Given the description of an element on the screen output the (x, y) to click on. 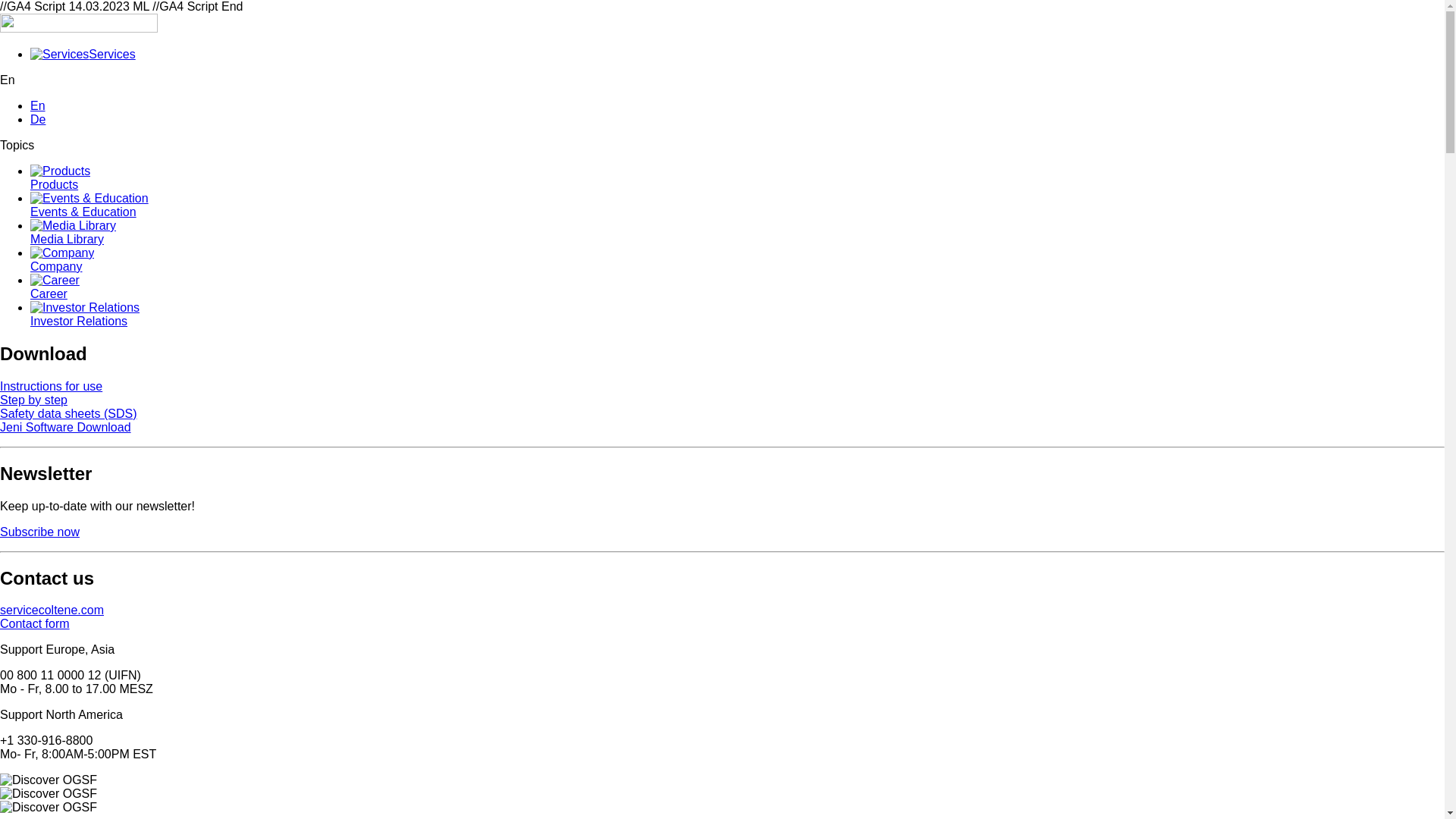
Career Element type: hover (54, 280)
servicecoltene.com Element type: text (51, 609)
Investor Relations Element type: text (737, 314)
Instructions for use Element type: text (51, 385)
De Element type: text (37, 118)
Jeni Software Download Element type: text (65, 426)
Subscribe now Element type: text (39, 531)
Products Element type: text (737, 177)
Discover OGSF Element type: hover (48, 793)
Company Element type: hover (62, 253)
Contact form Element type: text (34, 623)
Company Element type: text (737, 259)
Products Element type: hover (60, 171)
Media Library Element type: hover (73, 225)
Services Element type: hover (59, 54)
Step by step Element type: text (33, 399)
Media Library Element type: text (737, 232)
Services Element type: text (82, 53)
Events & Education Element type: text (737, 204)
Safety data sheets (SDS) Element type: text (68, 413)
Events & Education Element type: hover (89, 198)
Discover OGSF Element type: hover (48, 780)
En Element type: text (37, 105)
Investor Relations Element type: hover (84, 307)
Career Element type: text (737, 286)
Discover OGSF Element type: hover (48, 807)
